Given the description of an element on the screen output the (x, y) to click on. 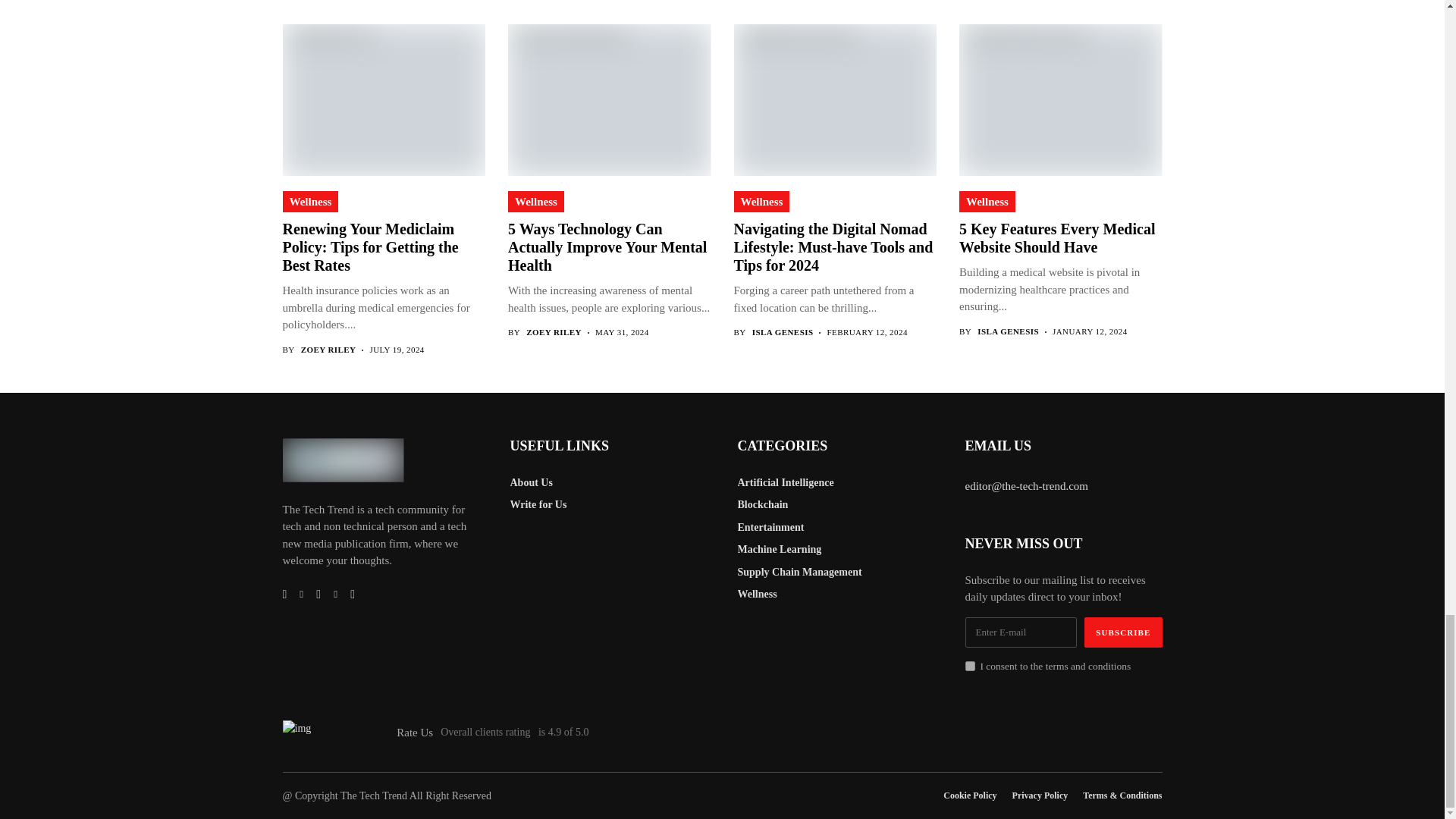
Subscribe (1122, 632)
Posts by Zoey Riley (552, 332)
Posts by Zoey Riley (328, 349)
Posts by Isla Genesis (782, 332)
Posts by Isla Genesis (1007, 331)
1 (968, 665)
